Given the description of an element on the screen output the (x, y) to click on. 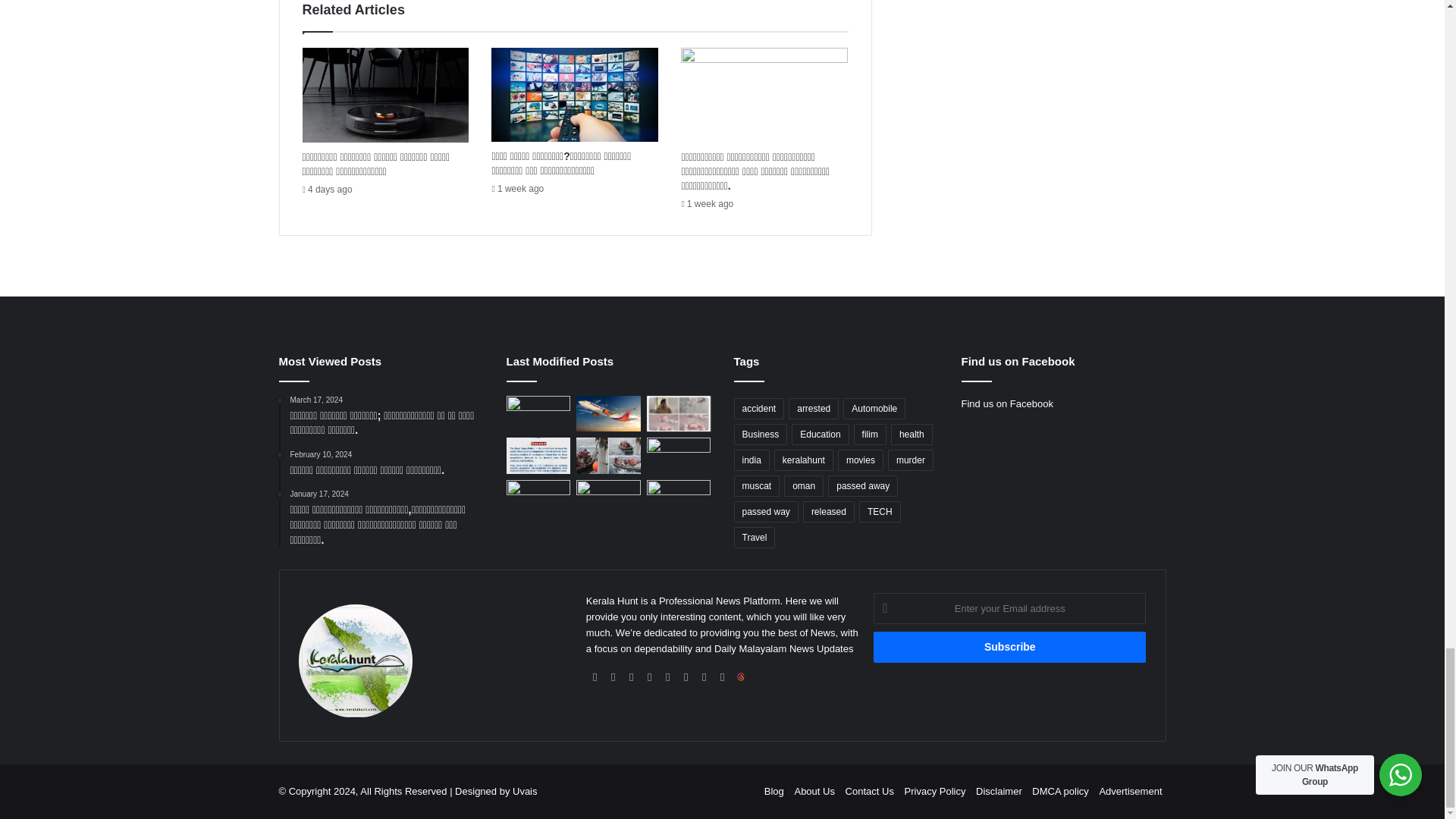
Subscribe (1009, 646)
